Given the description of an element on the screen output the (x, y) to click on. 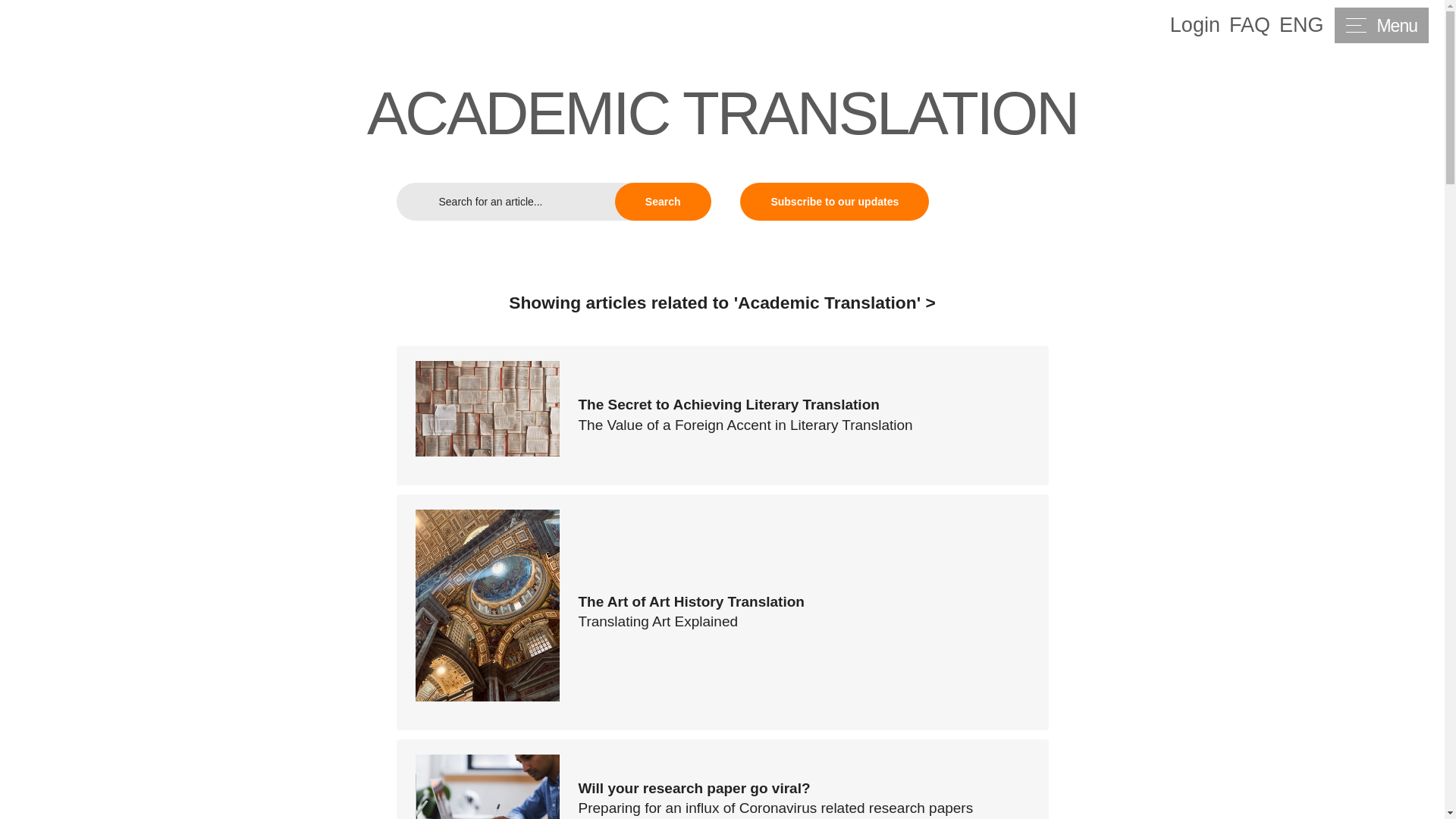
FAQ (1248, 25)
Search (662, 201)
